Given the description of an element on the screen output the (x, y) to click on. 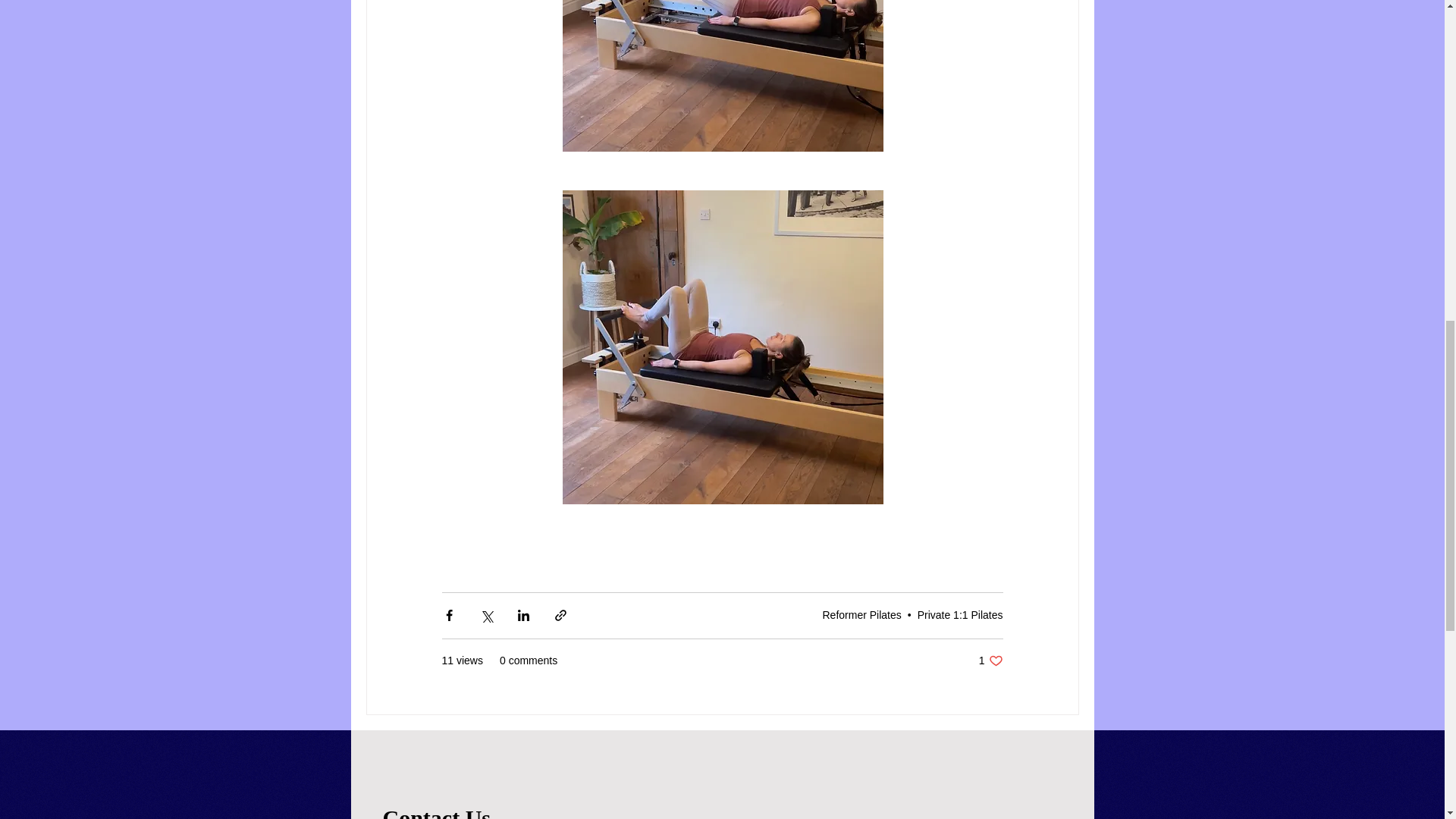
Private 1:1 Pilates (990, 660)
Reformer Pilates (960, 614)
